Given the description of an element on the screen output the (x, y) to click on. 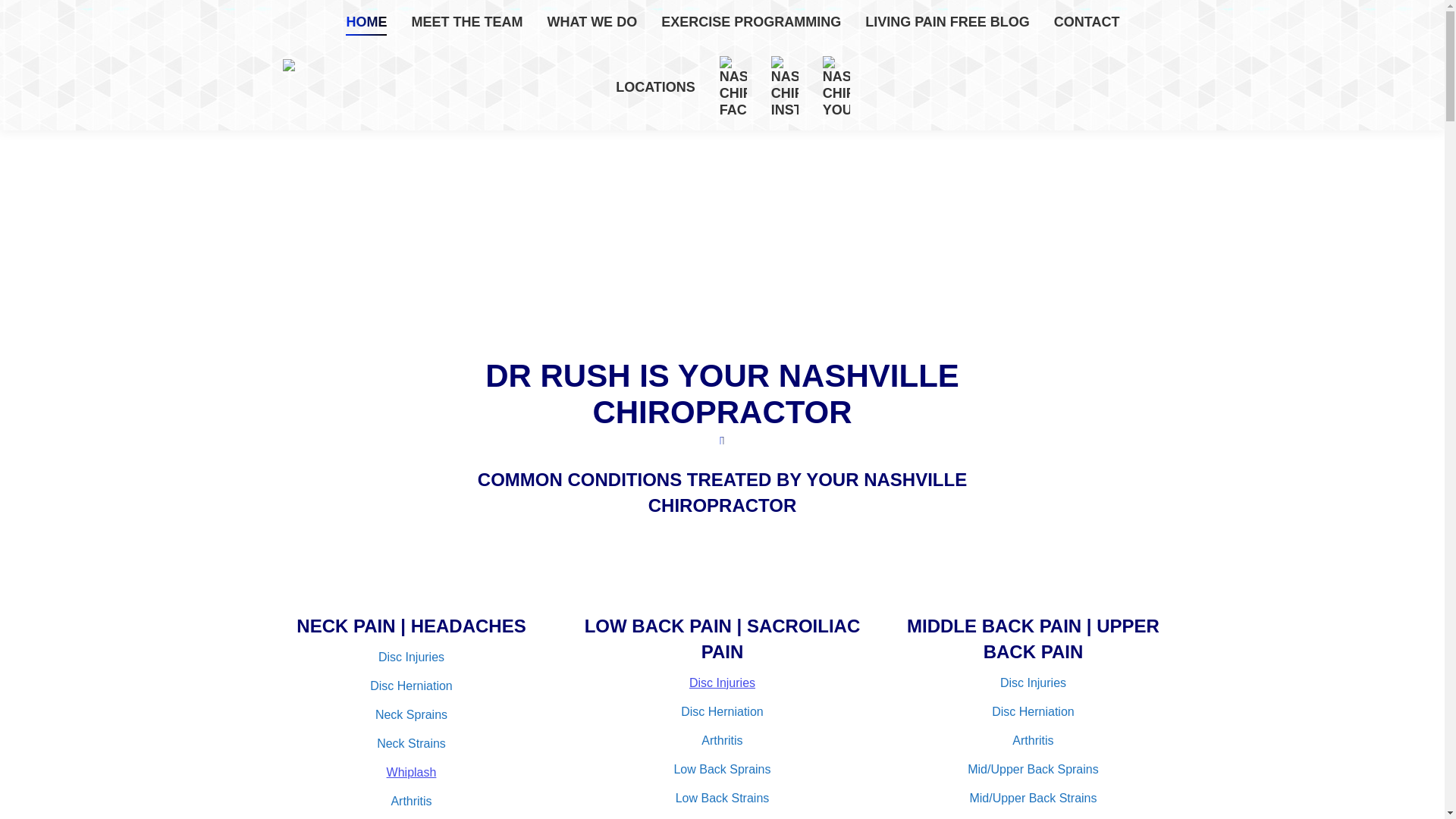
Whiplash (411, 771)
Disc Injuries (721, 682)
LOCATIONS (655, 86)
WHAT WE DO (591, 21)
EXERCISE PROGRAMMING (751, 21)
CONTACT (1087, 21)
MEET THE TEAM (466, 21)
LIVING PAIN FREE BLOG (947, 21)
HOME (366, 21)
